Given the description of an element on the screen output the (x, y) to click on. 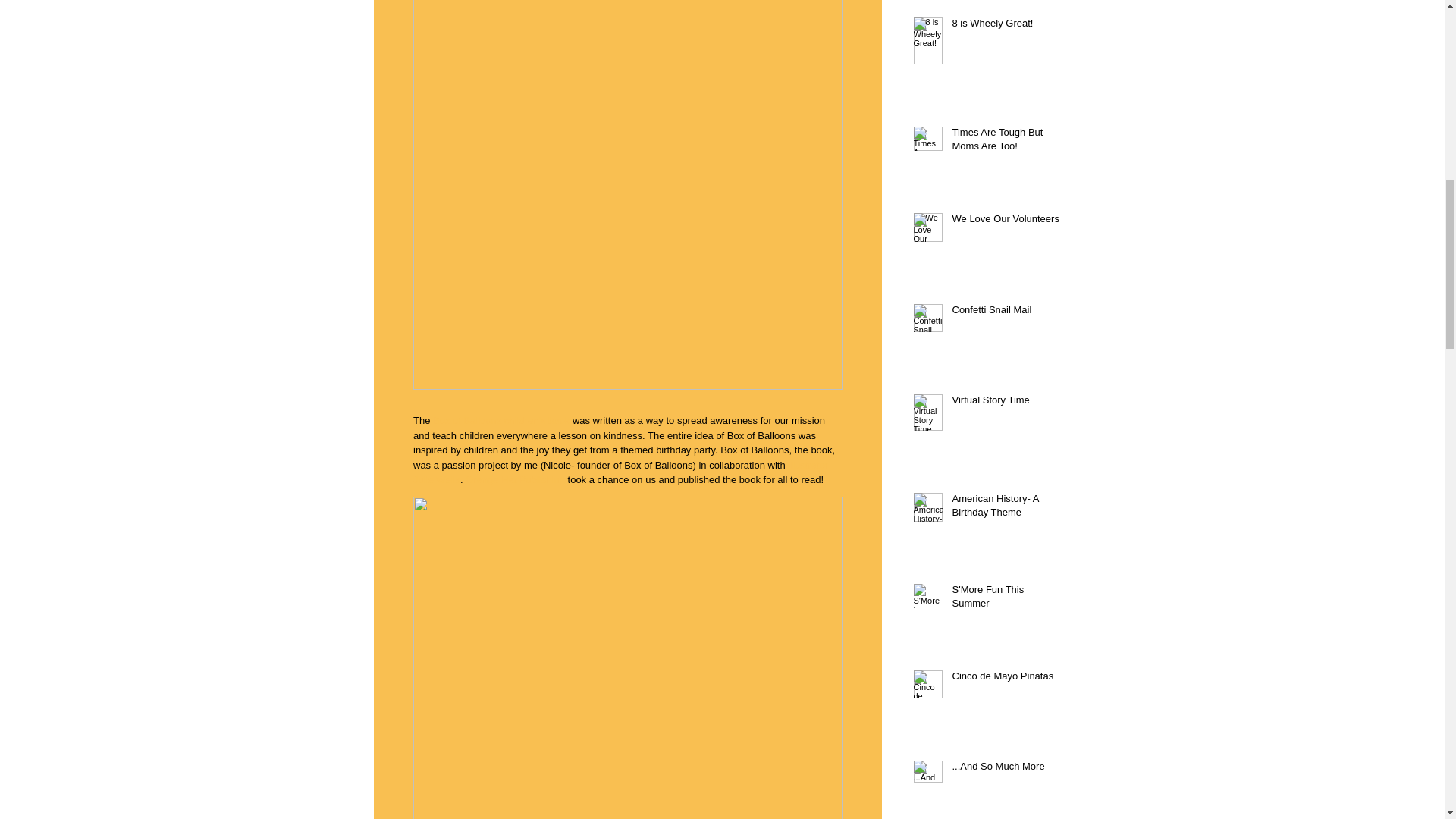
illustrator Julie Wells (620, 472)
Orange Hat Publishing (514, 479)
Box of Balloons children's book (500, 419)
